Given the description of an element on the screen output the (x, y) to click on. 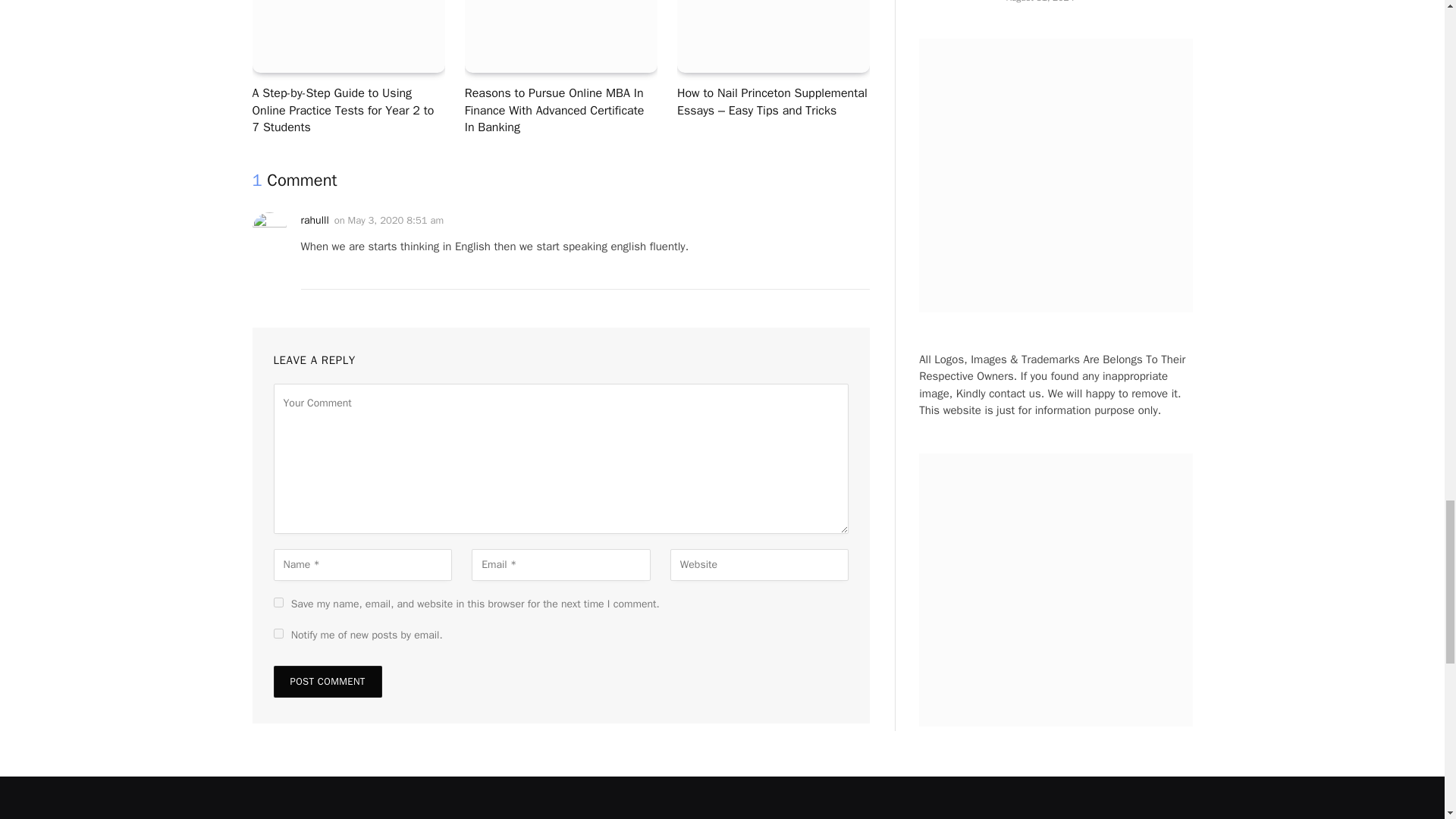
subscribe (277, 633)
yes (277, 602)
Post Comment (327, 681)
